Given the description of an element on the screen output the (x, y) to click on. 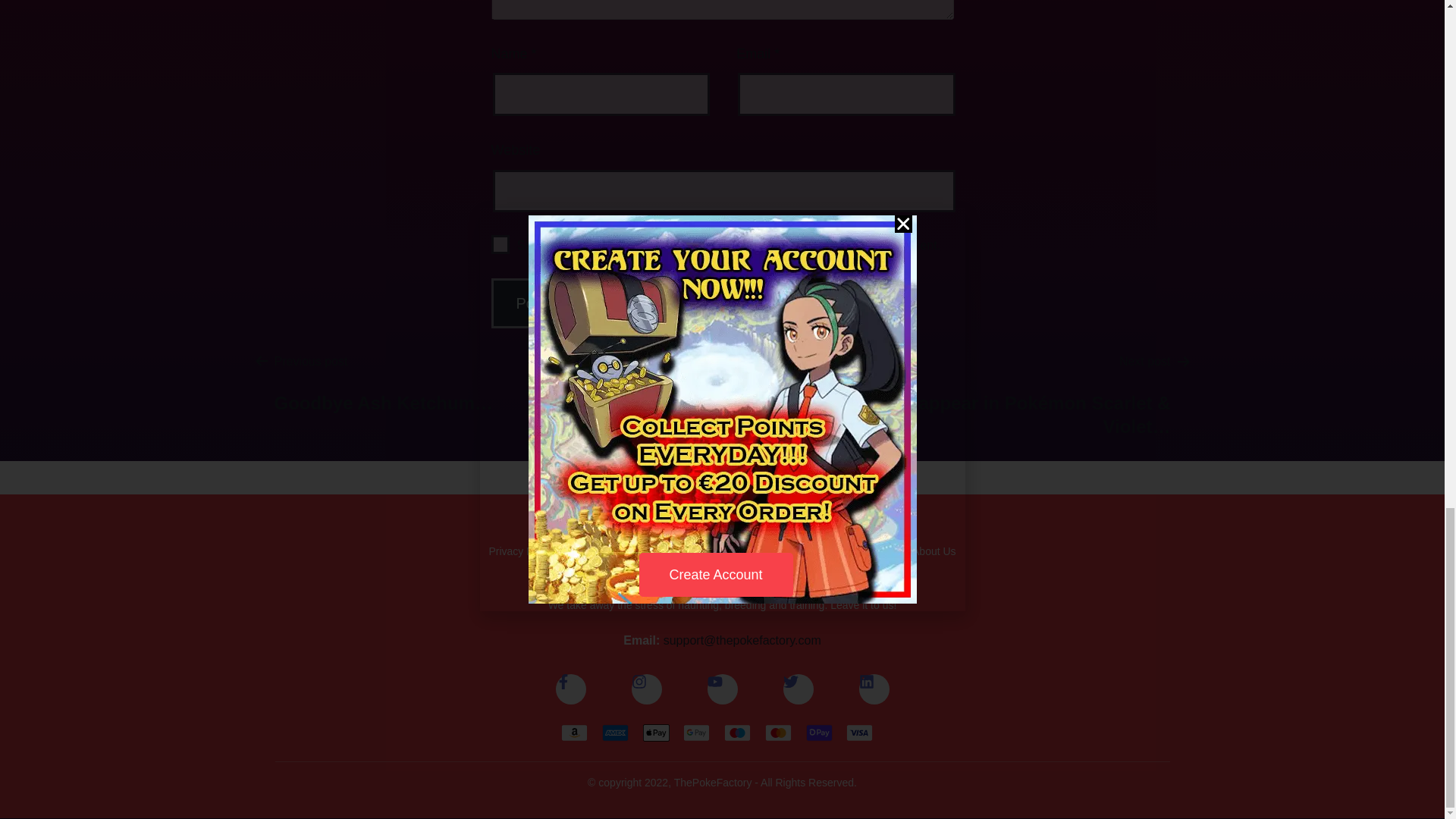
Post Comment (567, 303)
Customer reviews powered by Trustpilot (722, 477)
yes (500, 244)
